Given the description of an element on the screen output the (x, y) to click on. 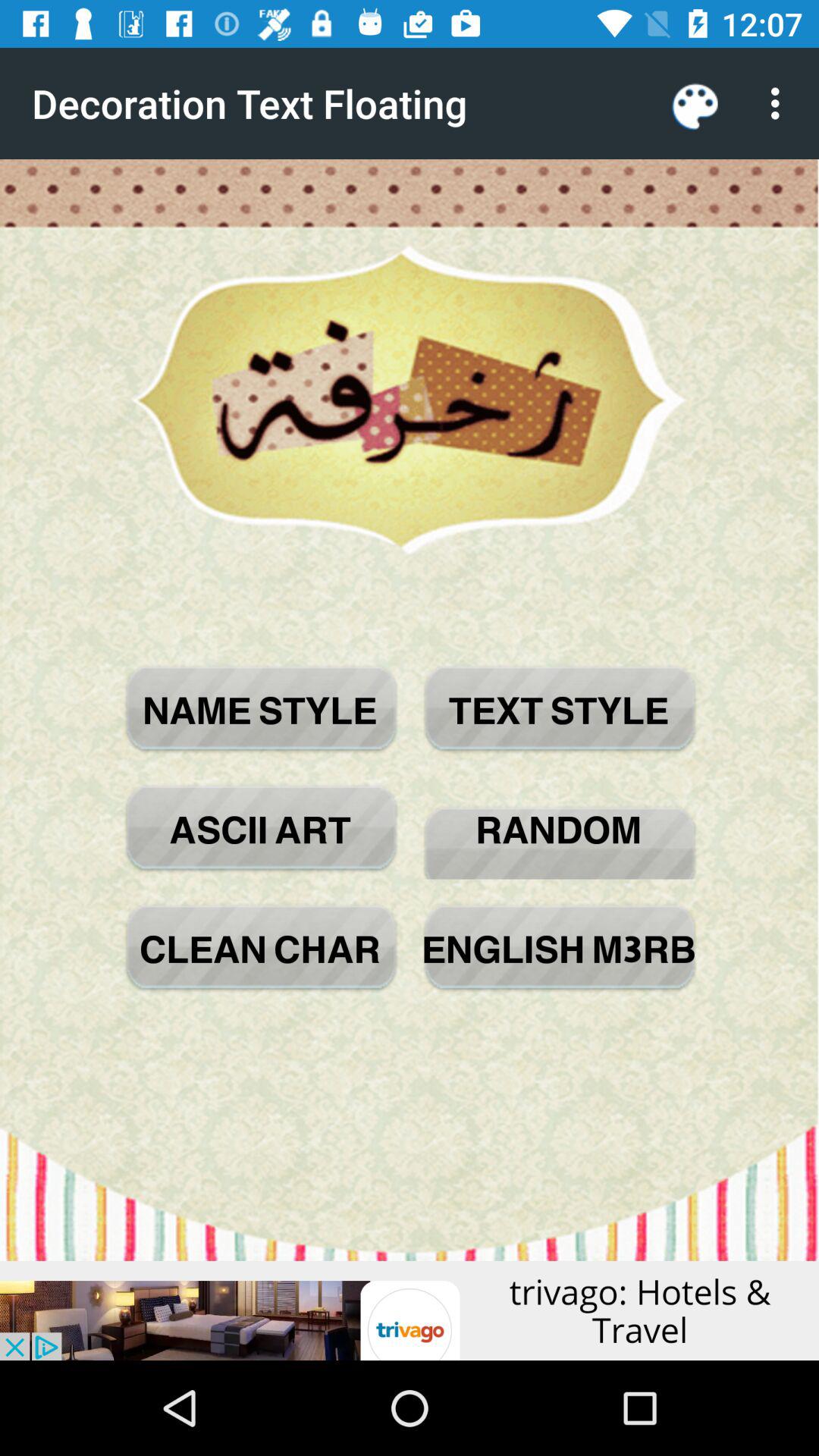
advertisement (409, 1310)
